Given the description of an element on the screen output the (x, y) to click on. 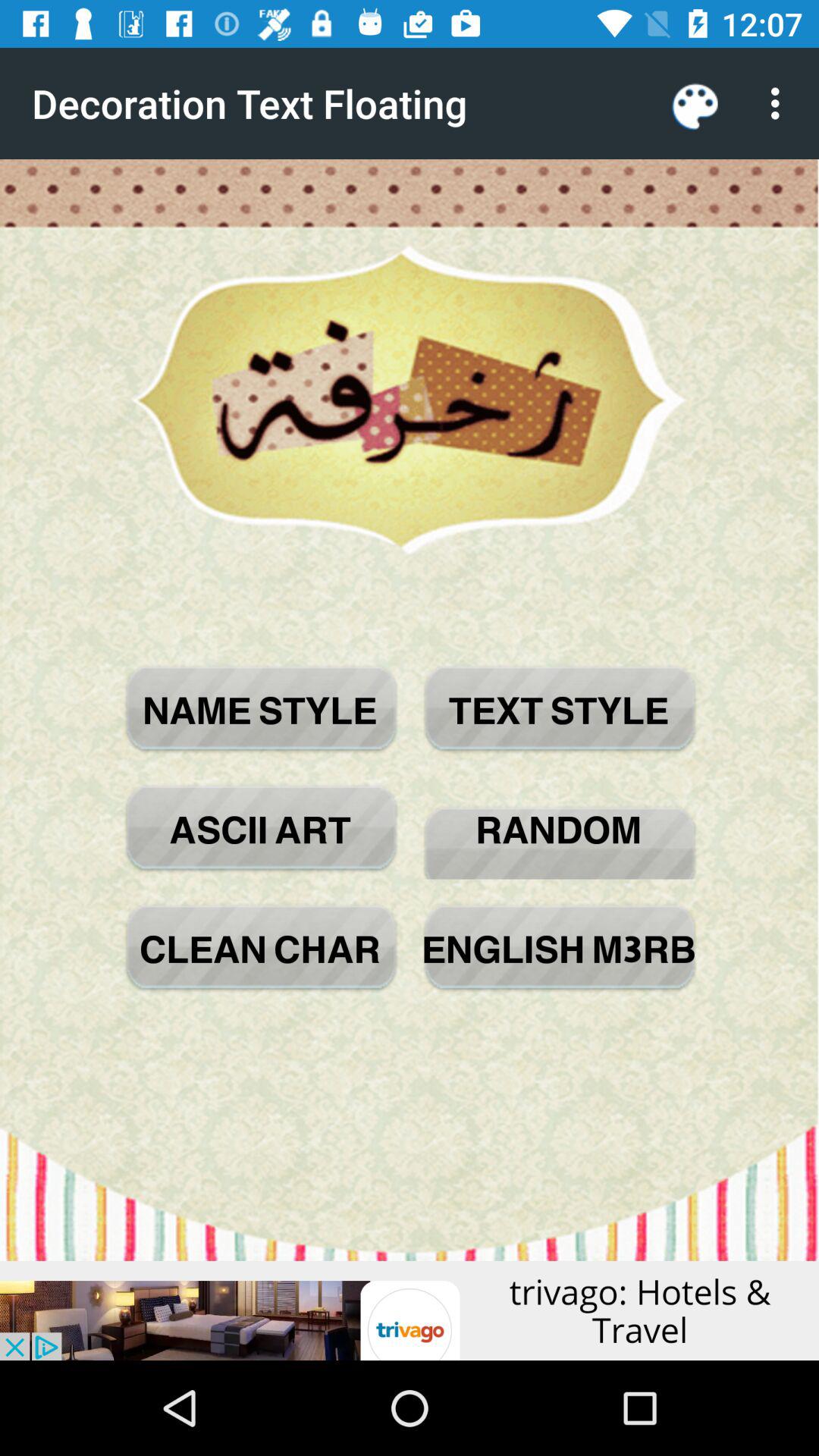
advertisement (409, 1310)
